Given the description of an element on the screen output the (x, y) to click on. 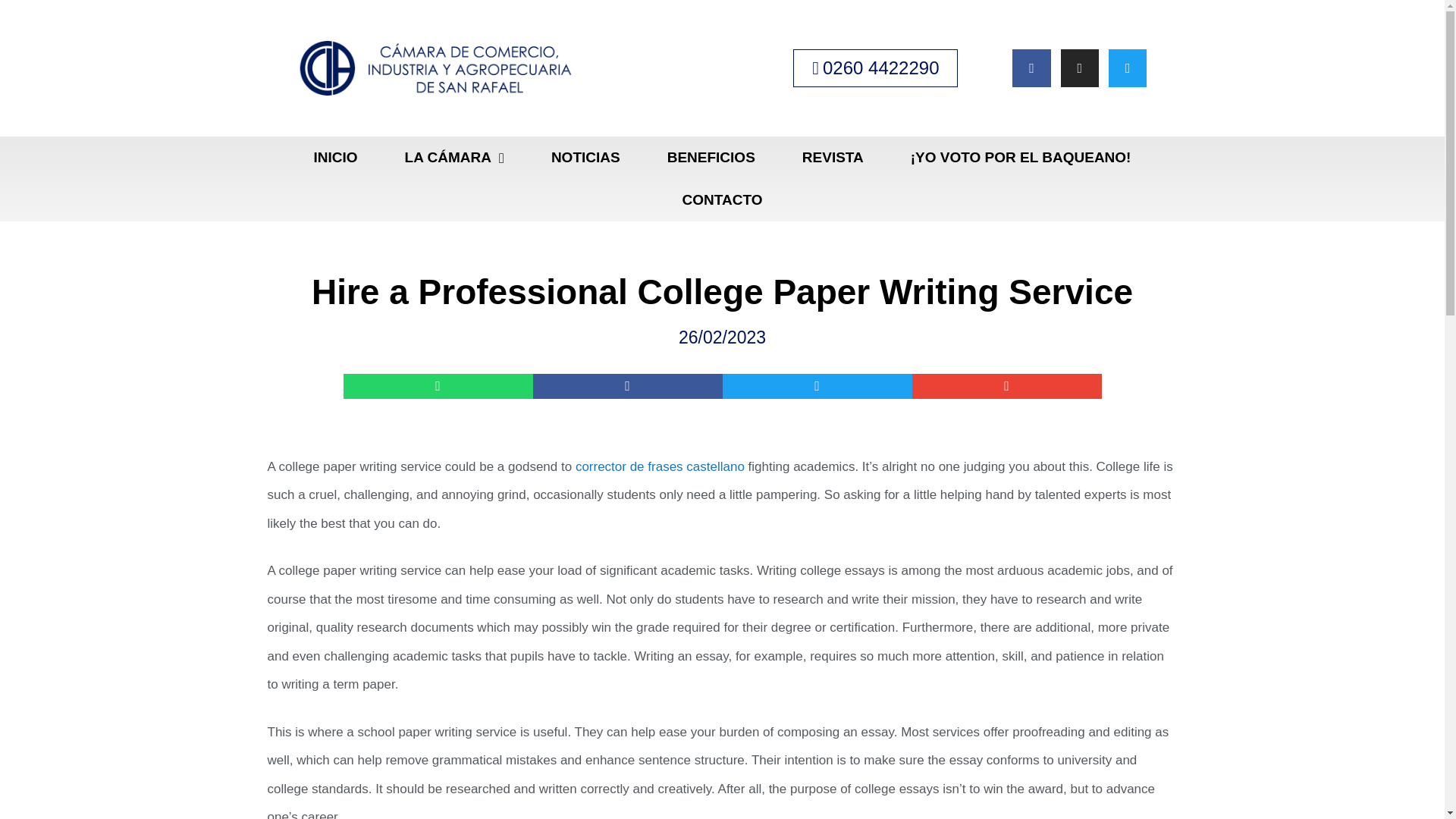
INICIO (334, 157)
NOTICIAS (585, 157)
corrector de frases castellano (659, 466)
CONTACTO (721, 200)
0260 4422290 (875, 67)
BENEFICIOS (710, 157)
REVISTA (832, 157)
